Given the description of an element on the screen output the (x, y) to click on. 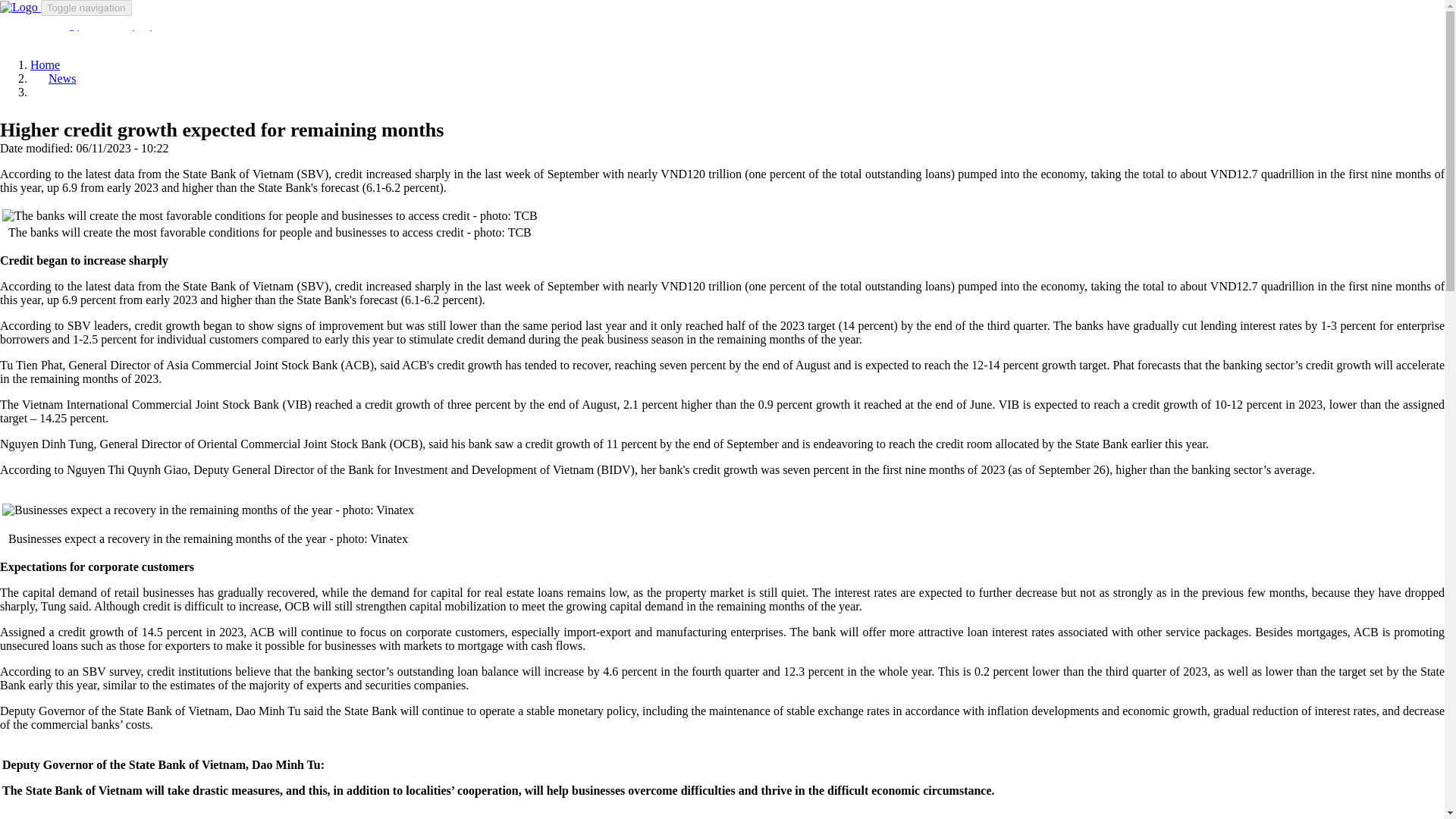
Home (44, 64)
Home (44, 64)
Toggle navigation (86, 7)
Home (20, 6)
News (61, 78)
News (61, 78)
